Given the description of an element on the screen output the (x, y) to click on. 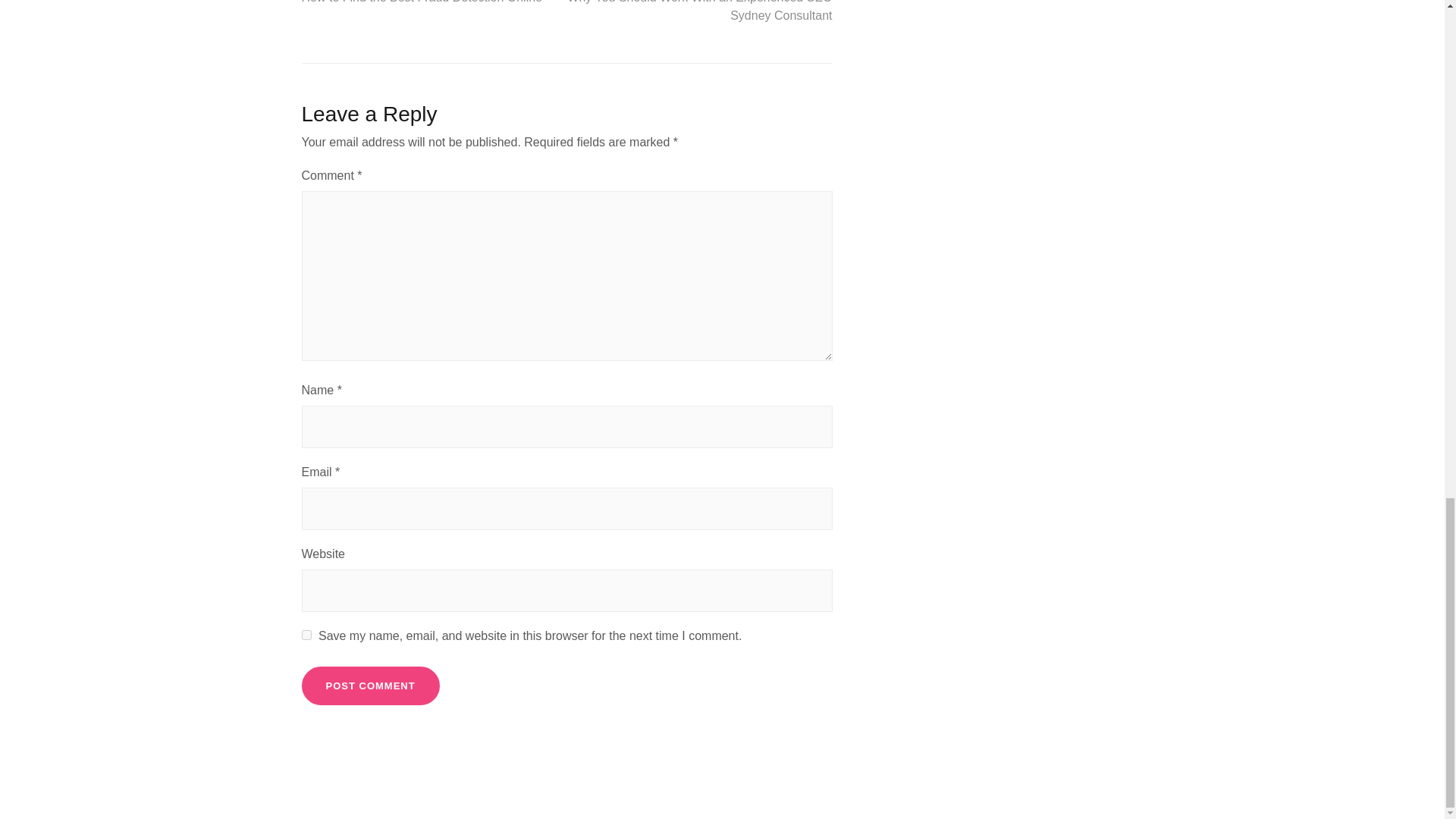
Post Comment (370, 685)
How to Find the Best Fraud Detection Online (422, 2)
Post Comment (370, 685)
yes (306, 634)
